Given the description of an element on the screen output the (x, y) to click on. 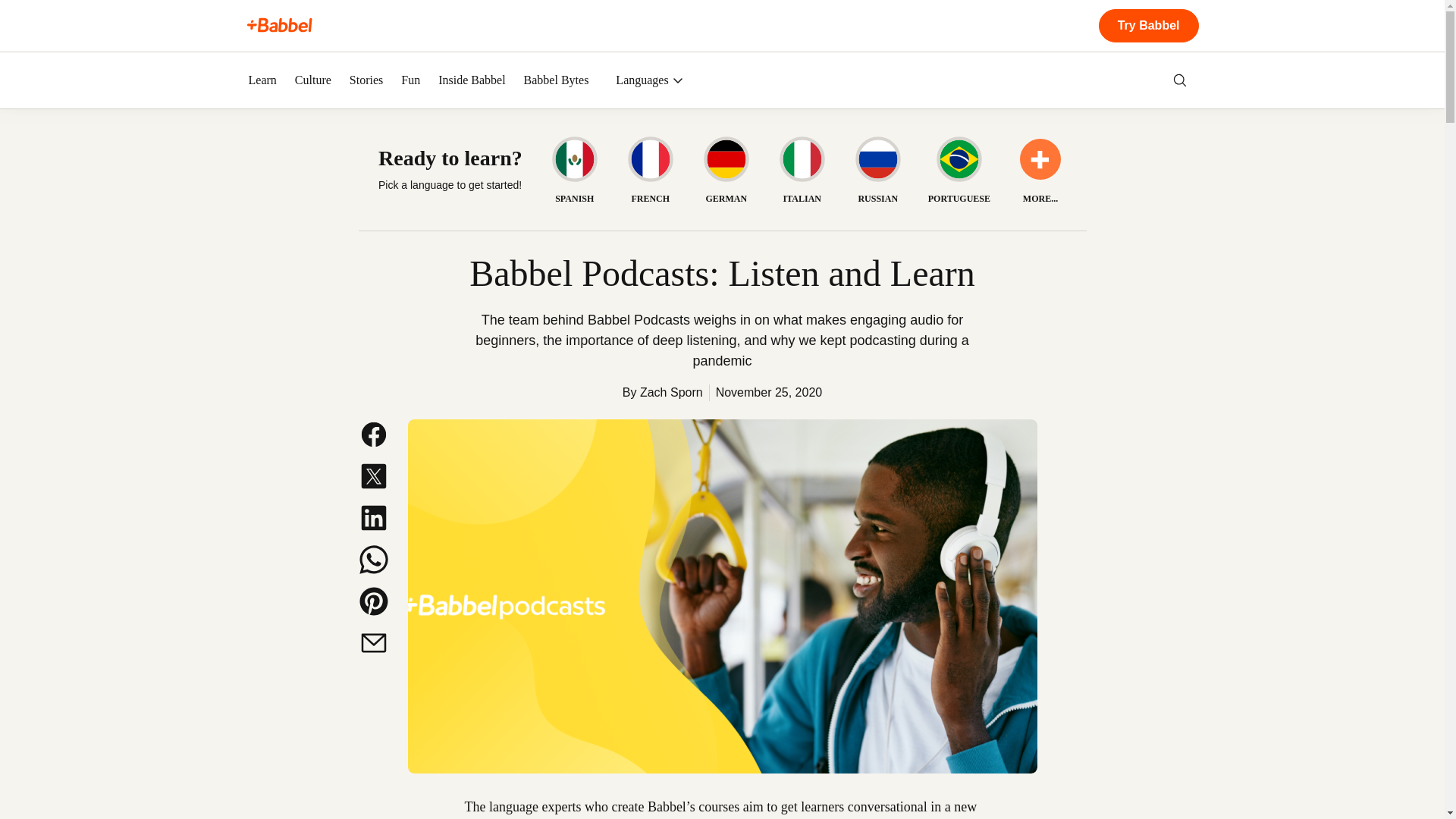
Languages (650, 80)
Try Babbel (1148, 25)
Stories (365, 79)
Culture (313, 79)
Fun (410, 79)
Toggle Search (1179, 80)
Inside Babbel (471, 79)
Learn (262, 79)
Babbel Bytes (556, 79)
